Given the description of an element on the screen output the (x, y) to click on. 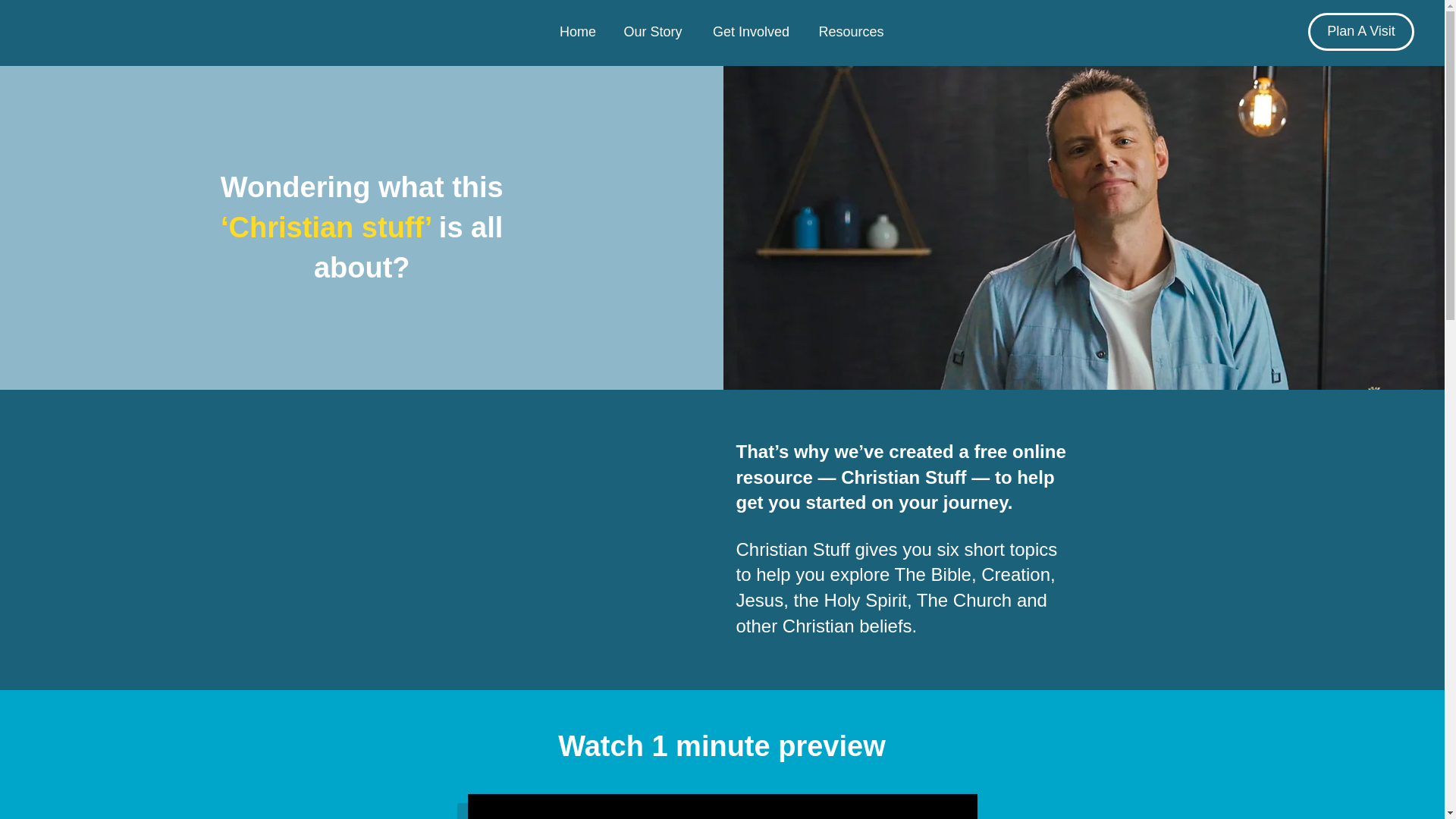
Home (577, 31)
Our Story (652, 31)
Plan A Visit (1360, 31)
